Given the description of an element on the screen output the (x, y) to click on. 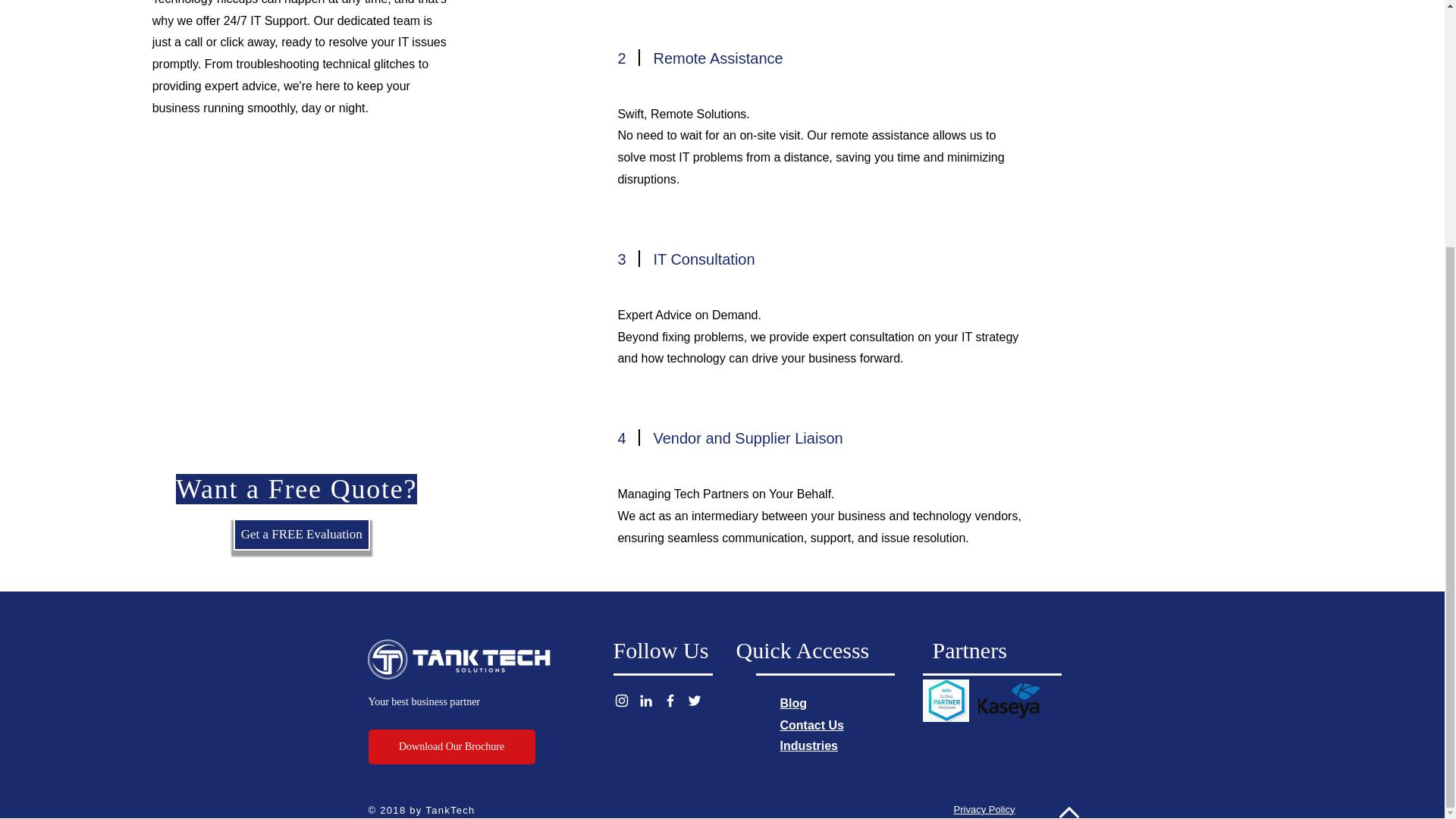
Download Our Brochure (451, 746)
Blog (792, 703)
Get a FREE Evaluation (300, 534)
Datto.PNG (944, 700)
Contact Us (810, 725)
Privacy Policy (983, 808)
Industries (807, 745)
